Given the description of an element on the screen output the (x, y) to click on. 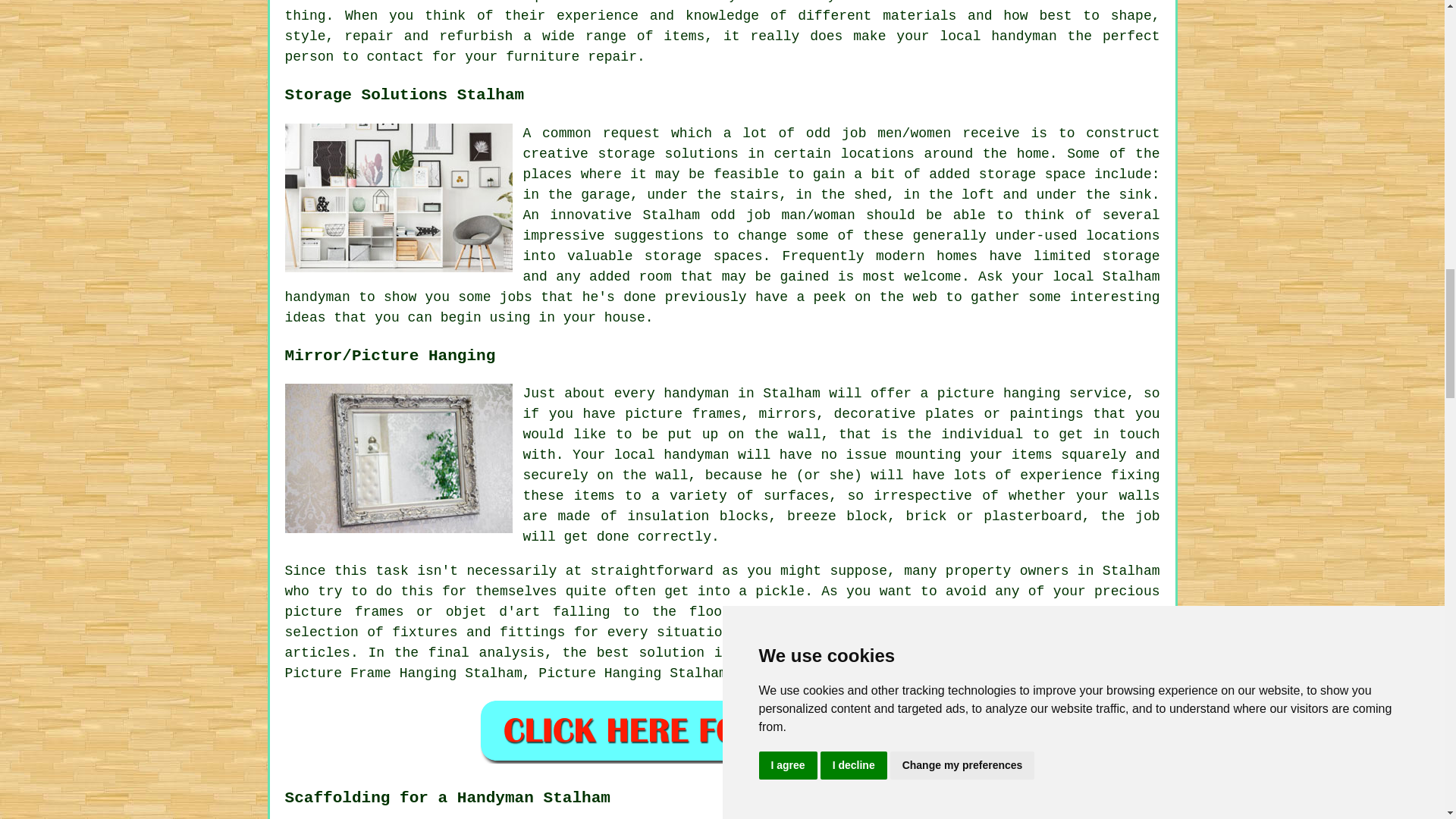
local handyman (998, 36)
a handyman (849, 652)
Handyman Storage Solutions Stalham Norfolk (398, 196)
under the stairs (712, 193)
